Given the description of an element on the screen output the (x, y) to click on. 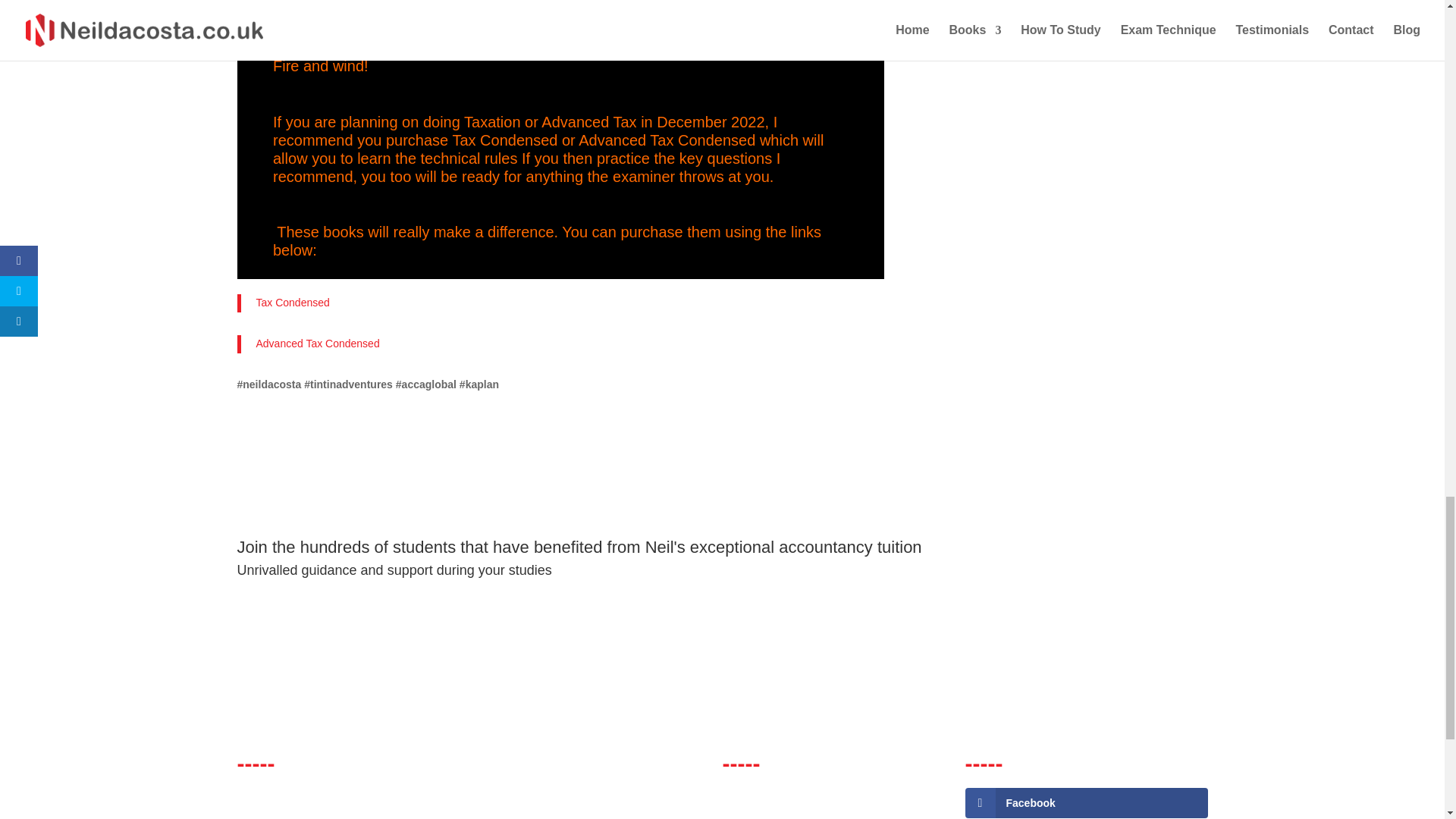
Facebook (1085, 802)
Advanced Tax Condensed (318, 343)
Tax Condensed (293, 302)
